Given the description of an element on the screen output the (x, y) to click on. 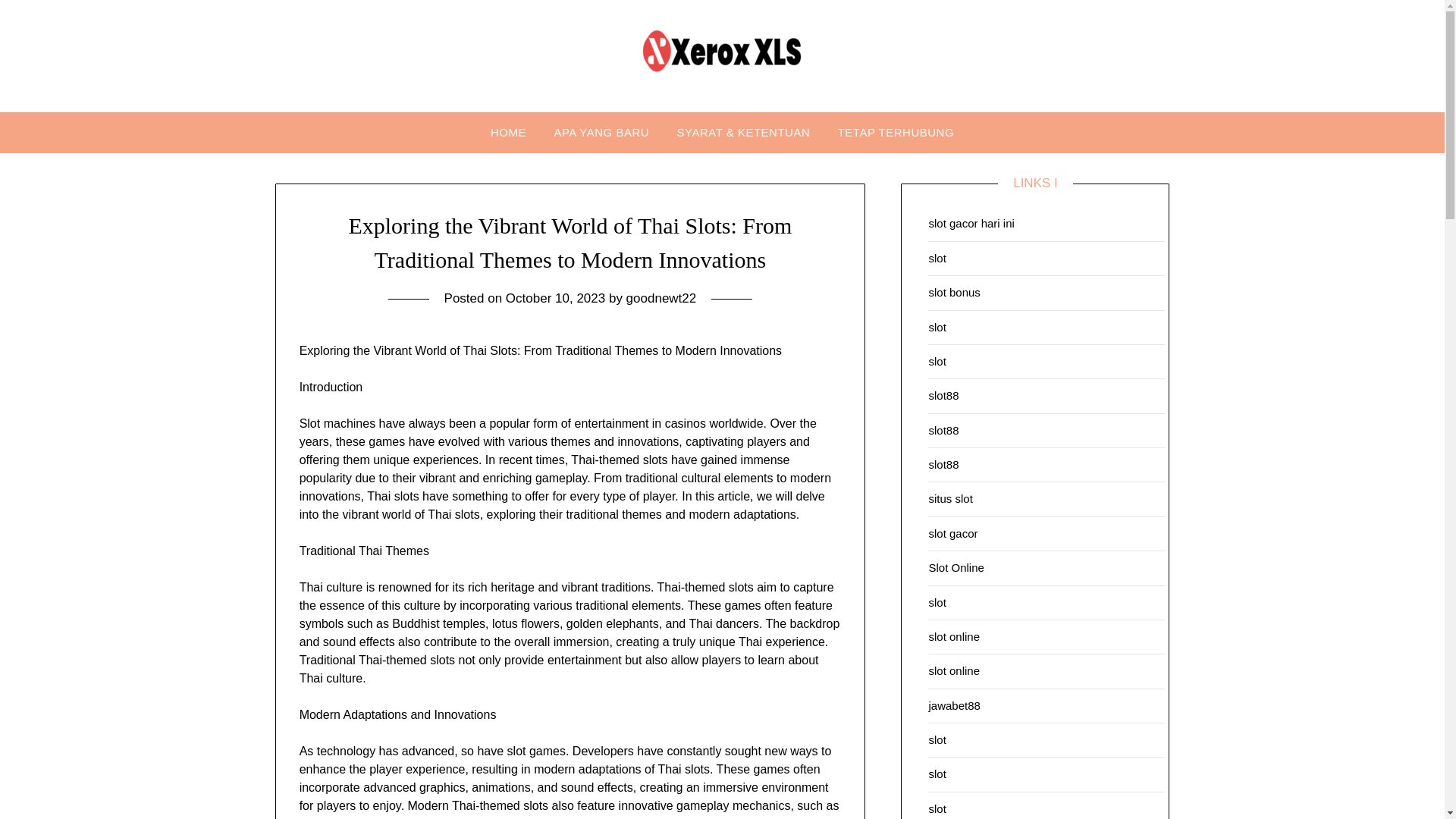
slot online (953, 670)
slot bonus (953, 291)
HOME (508, 132)
goodnewt22 (661, 298)
slot (936, 739)
slot88 (943, 395)
slot (936, 773)
slot88 (943, 430)
TETAP TERHUBUNG (895, 132)
APA YANG BARU (601, 132)
